Given the description of an element on the screen output the (x, y) to click on. 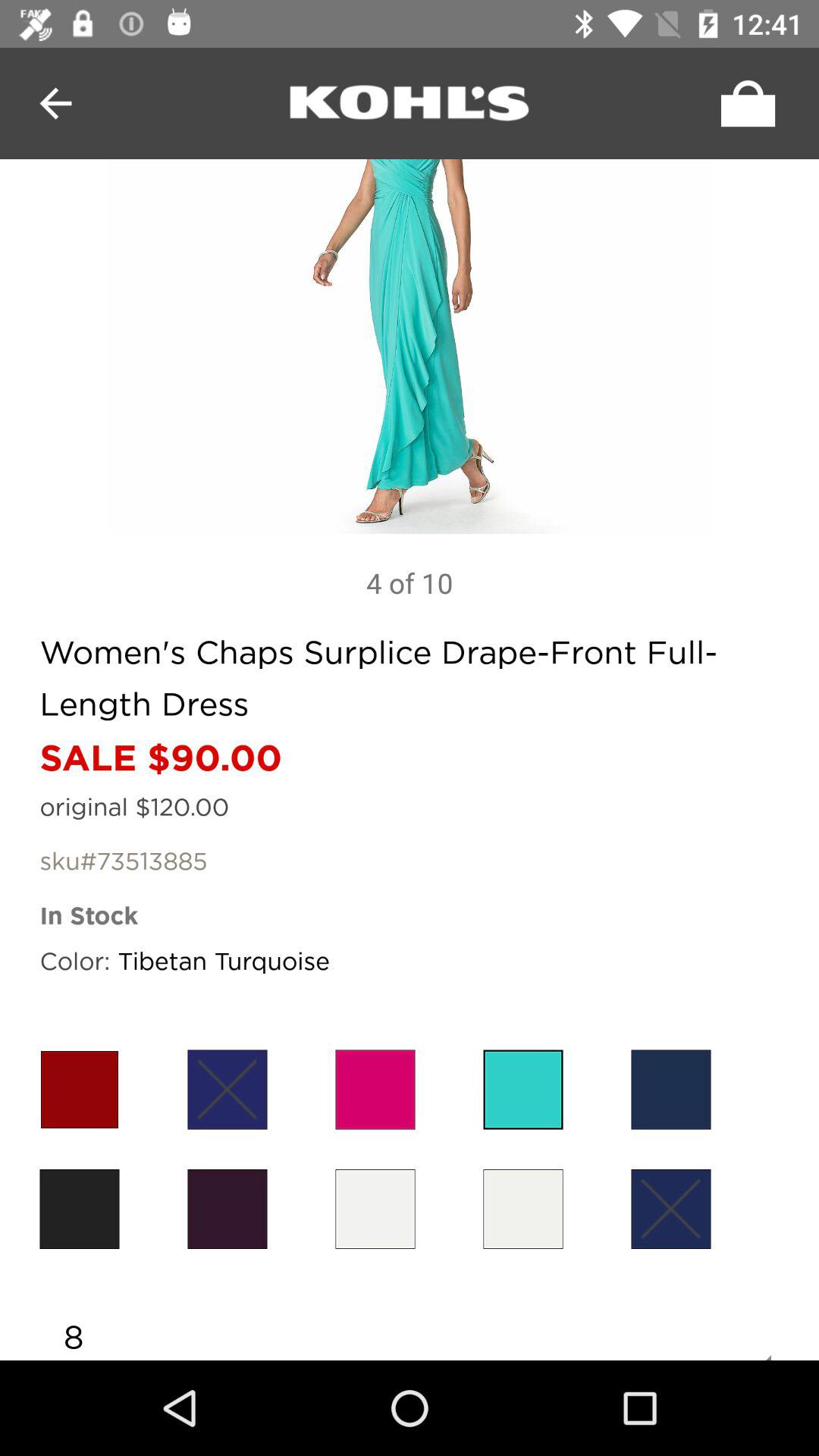
choose color preference (79, 1208)
